Given the description of an element on the screen output the (x, y) to click on. 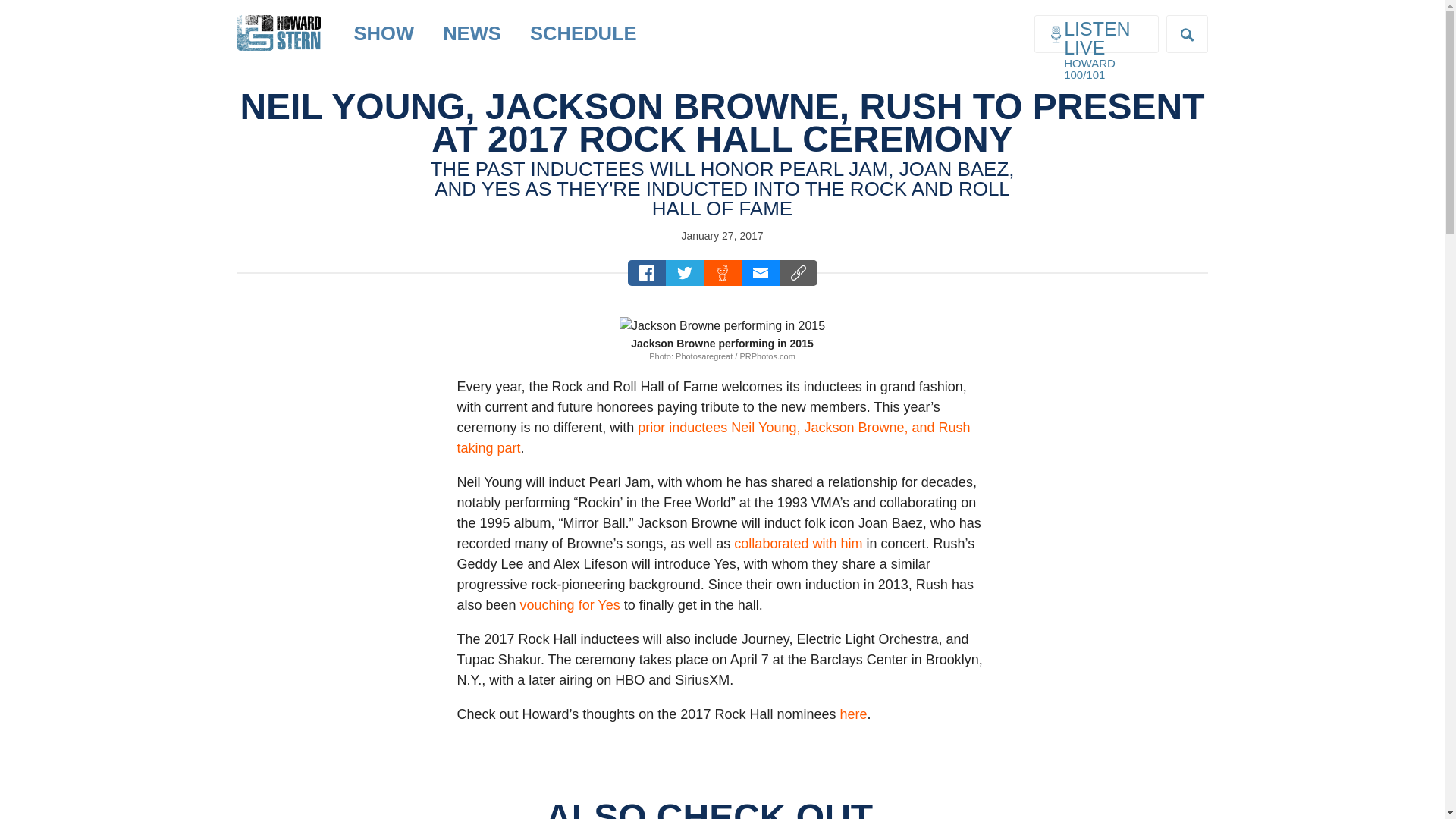
Howard Stern (277, 20)
collaborated with him (797, 543)
here (853, 713)
MAGNIFYING GLASS (1187, 34)
SCHEDULE (582, 33)
Search (24, 9)
SHOW (384, 33)
NEWS (471, 33)
vouching for Yes (569, 604)
